Given the description of an element on the screen output the (x, y) to click on. 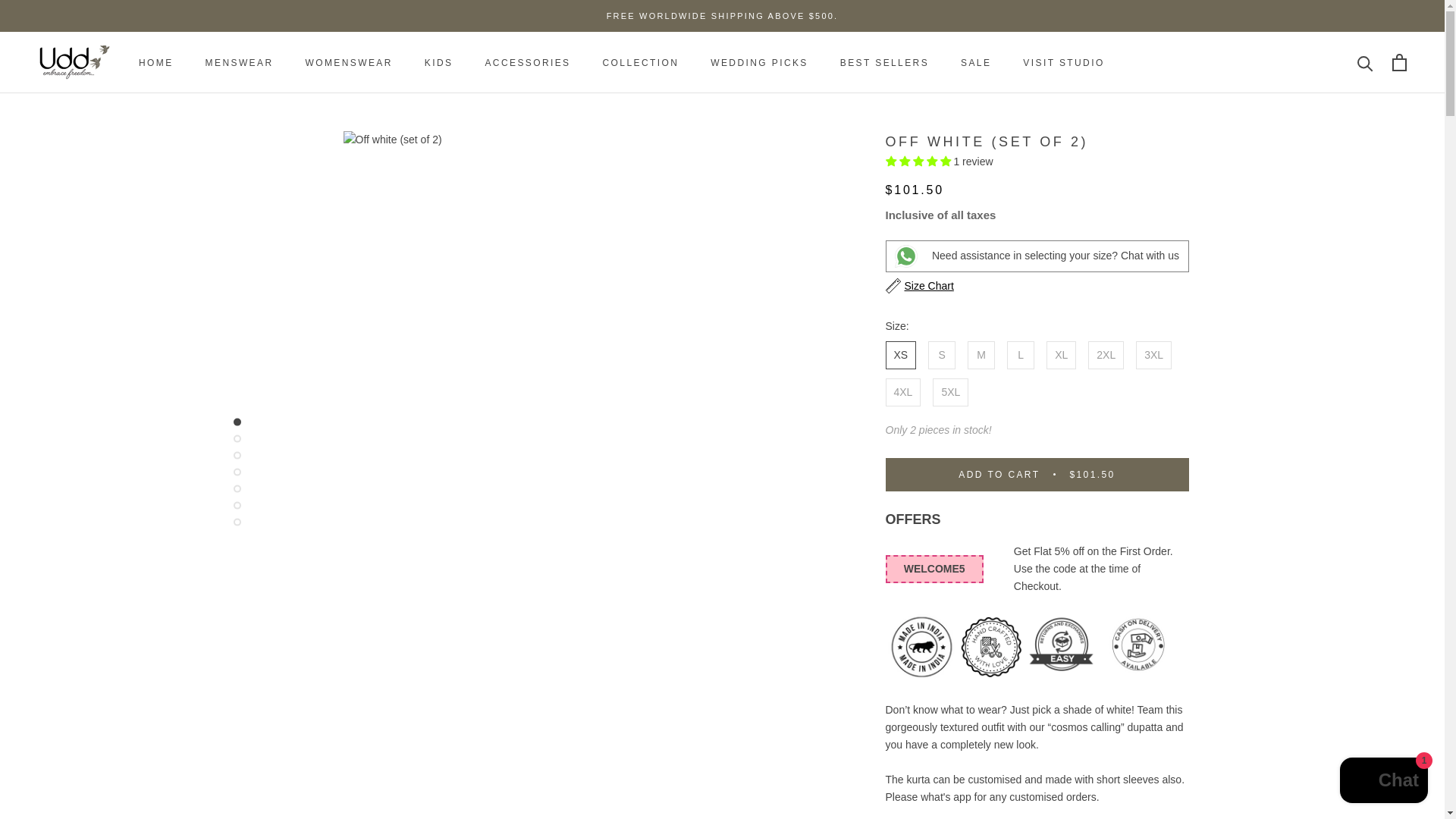
Shopify online store chat (1383, 781)
